Given the description of an element on the screen output the (x, y) to click on. 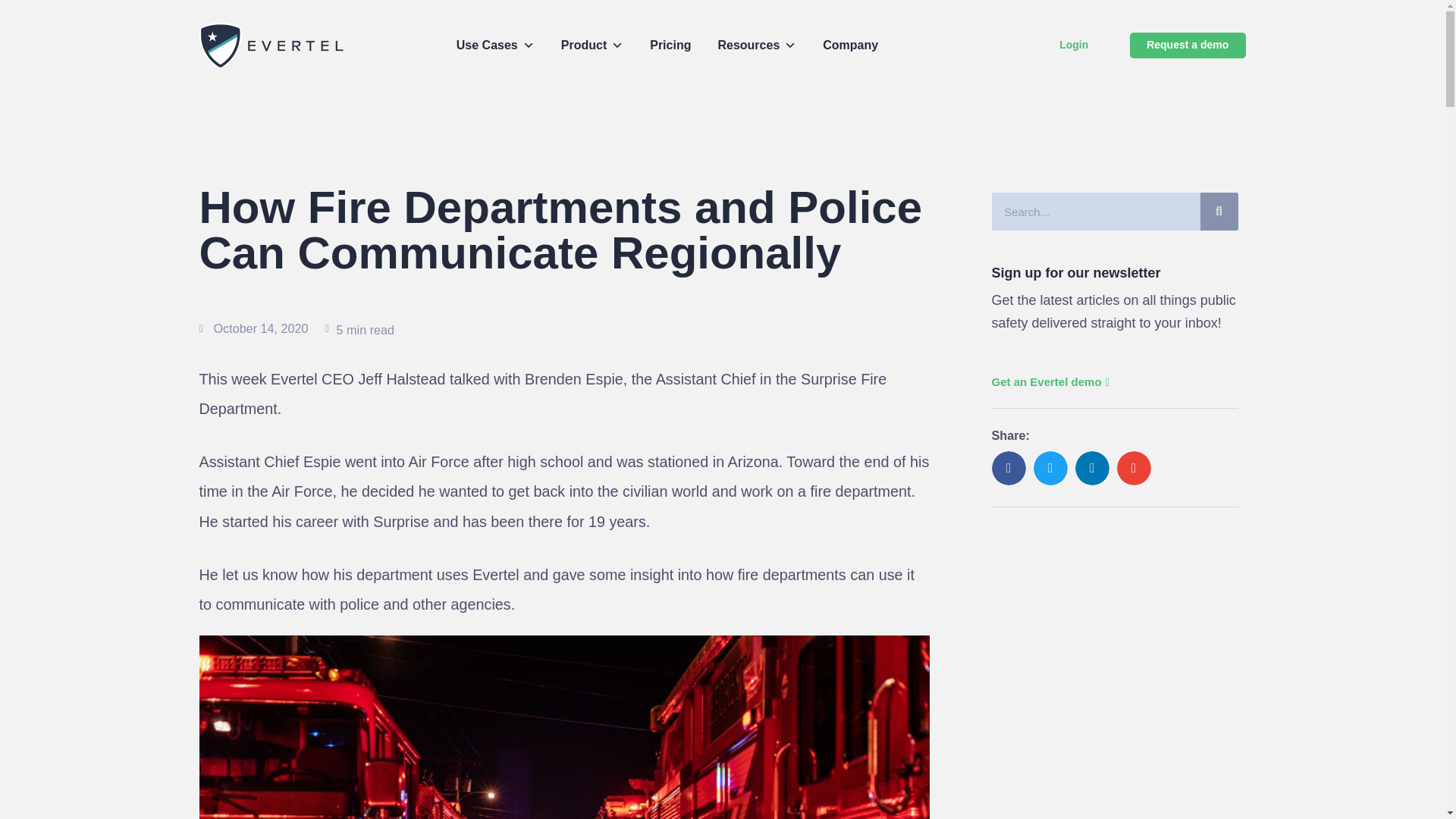
Use Cases (495, 45)
Pricing (670, 45)
Resources (757, 45)
Product (592, 45)
